Given the description of an element on the screen output the (x, y) to click on. 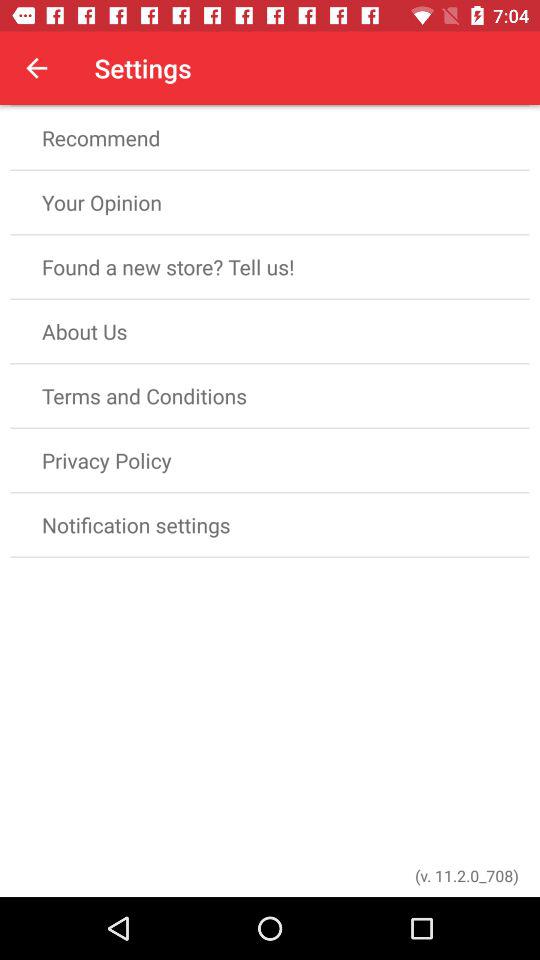
launch the icon above recommend item (36, 68)
